Given the description of an element on the screen output the (x, y) to click on. 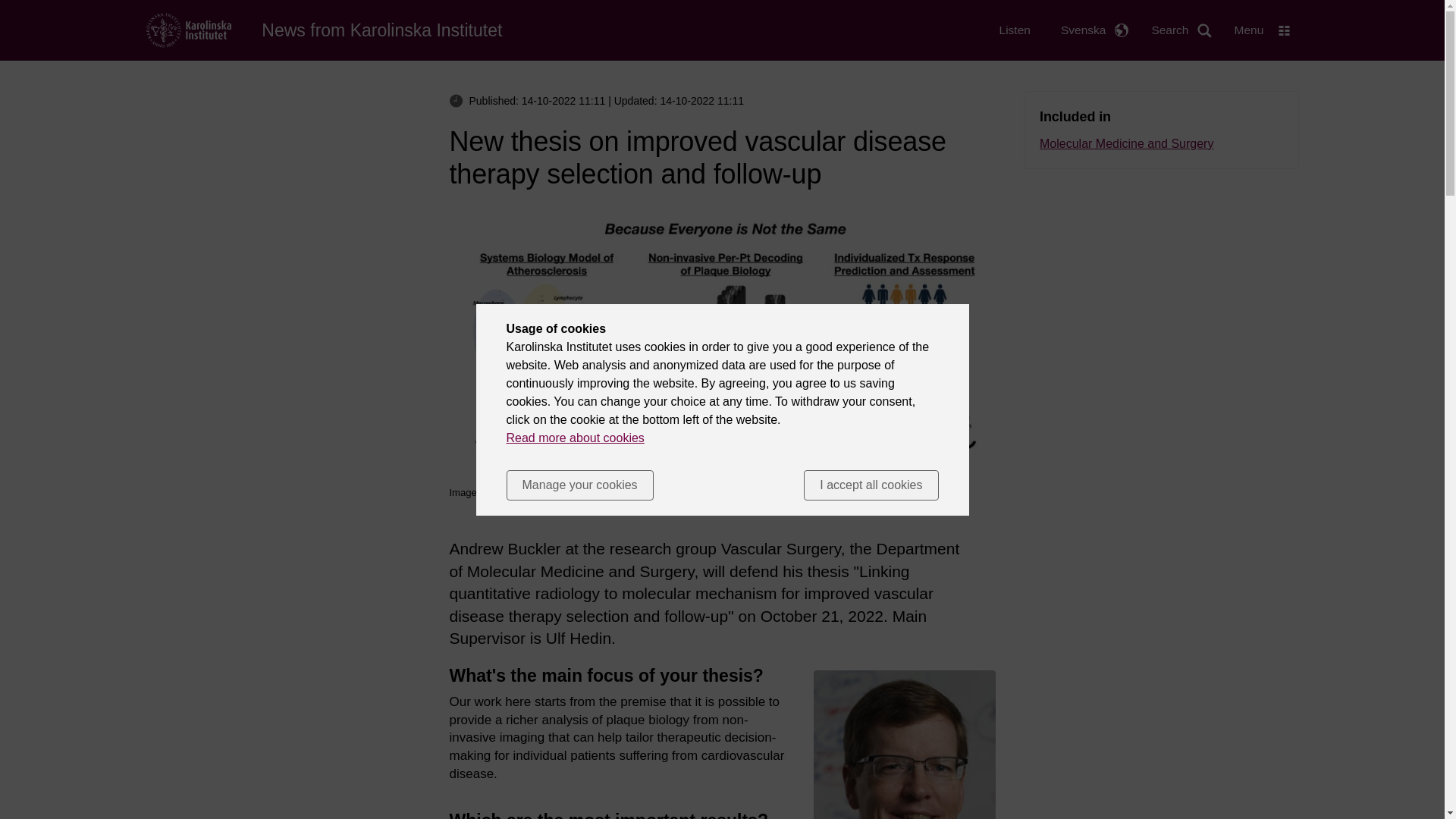
Listen (1014, 30)
Home (382, 30)
Home (188, 29)
News from Karolinska Institutet (382, 30)
Molecular Medicine and Surgery (1160, 144)
